Given the description of an element on the screen output the (x, y) to click on. 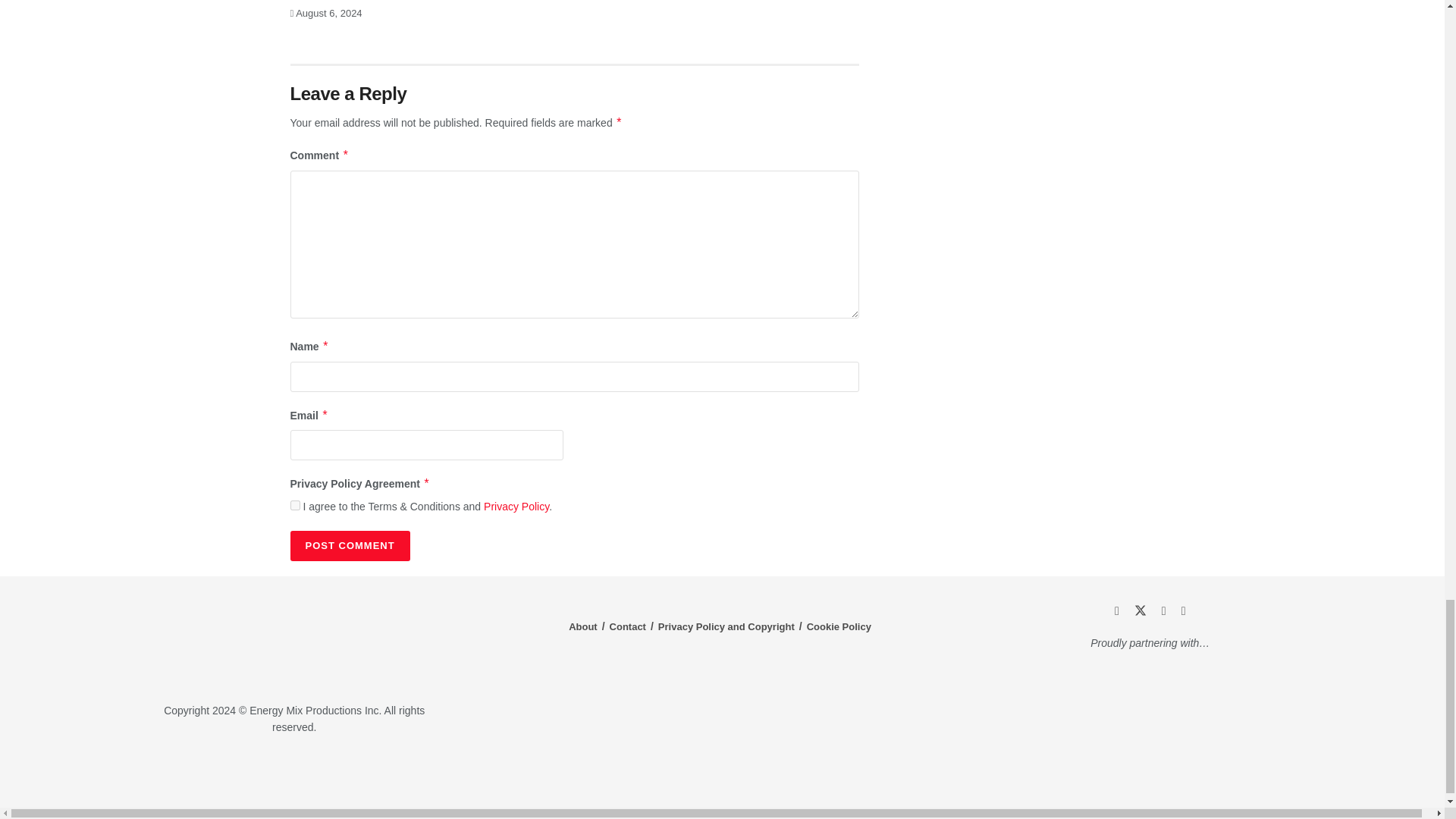
Climate-and-Capital (1221, 772)
on (294, 505)
Post Comment (349, 545)
tem-logo-2024 (294, 640)
